Given the description of an element on the screen output the (x, y) to click on. 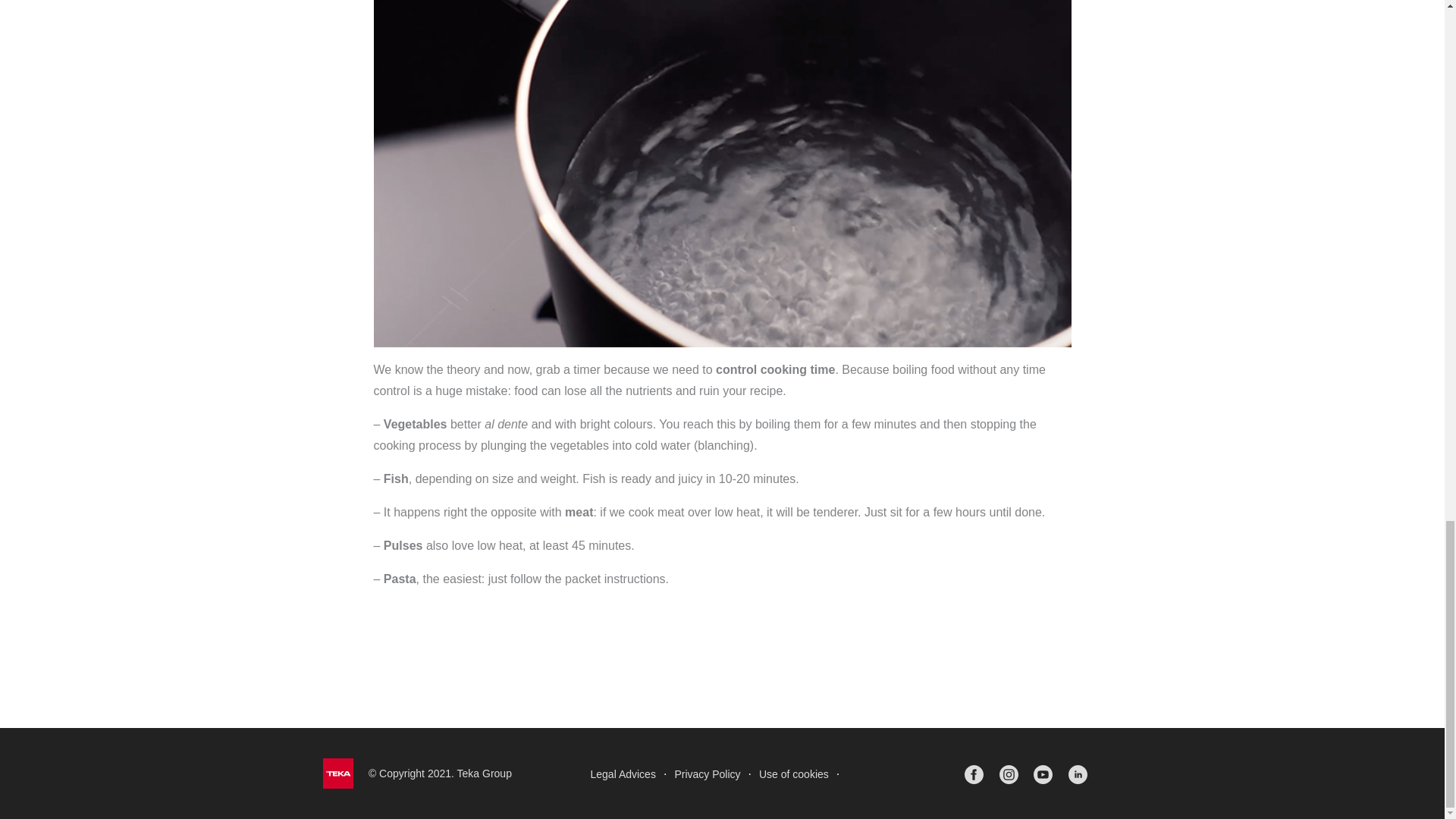
Legal Advices (623, 774)
Privacy Policy (706, 774)
Use of cookies (793, 774)
